Given the description of an element on the screen output the (x, y) to click on. 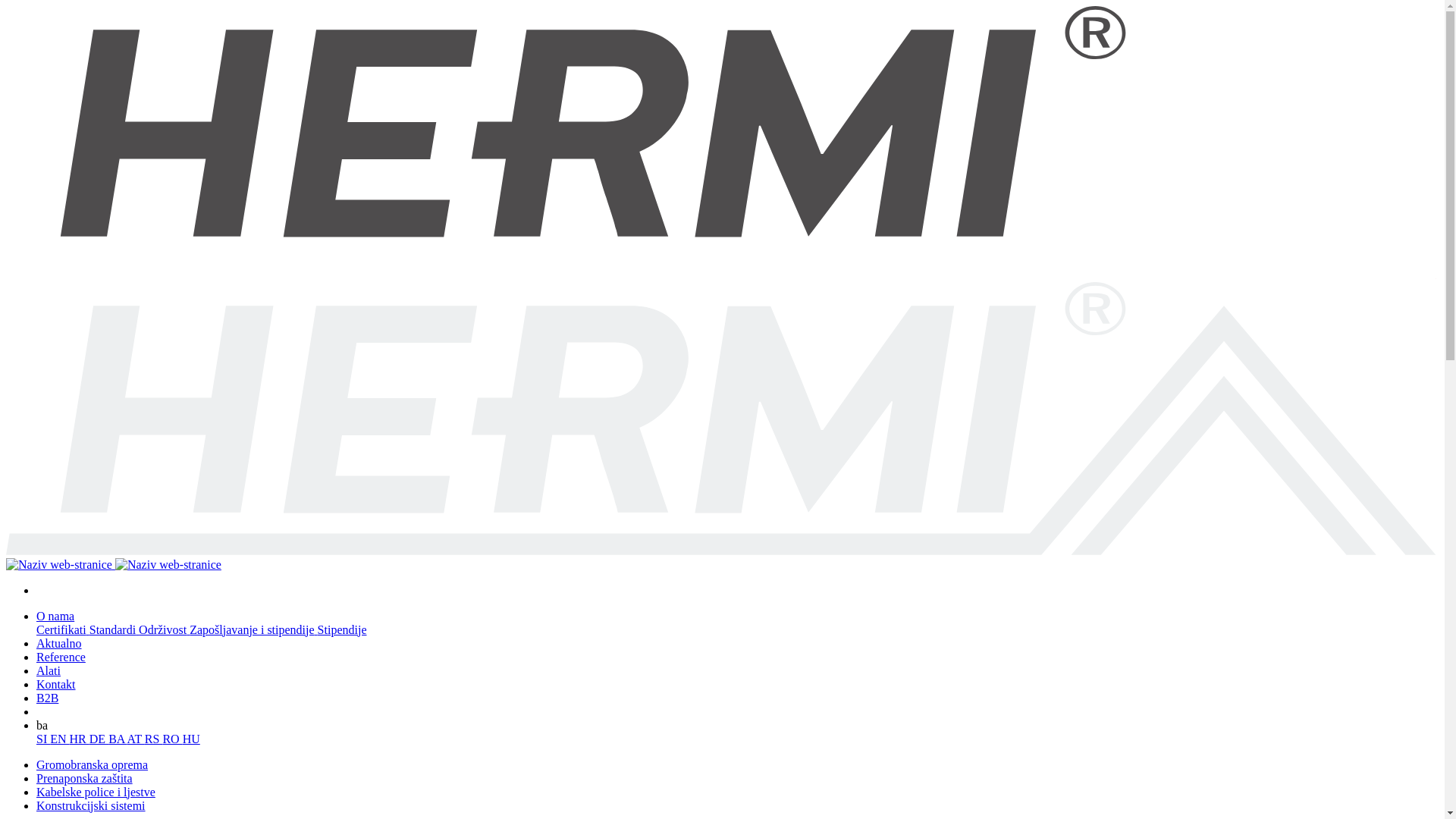
Reference Element type: text (60, 656)
BA Element type: text (117, 738)
HU Element type: text (191, 738)
SI Element type: text (43, 738)
Aktualno Element type: text (58, 643)
RO Element type: text (172, 738)
Konstrukcijski sistemi Element type: text (90, 805)
RS Element type: text (153, 738)
HR Element type: text (79, 738)
Gromobranska oprema Element type: text (91, 764)
Certifikati Element type: text (62, 629)
B2B Element type: text (47, 697)
Kontakt Element type: text (55, 683)
O nama Element type: text (55, 615)
Kabelske police i ljestve Element type: text (95, 791)
AT Element type: text (135, 738)
DE Element type: text (98, 738)
EN Element type: text (59, 738)
Standardi Element type: text (113, 629)
Stipendije Element type: text (342, 629)
Alati Element type: text (48, 670)
